Given the description of an element on the screen output the (x, y) to click on. 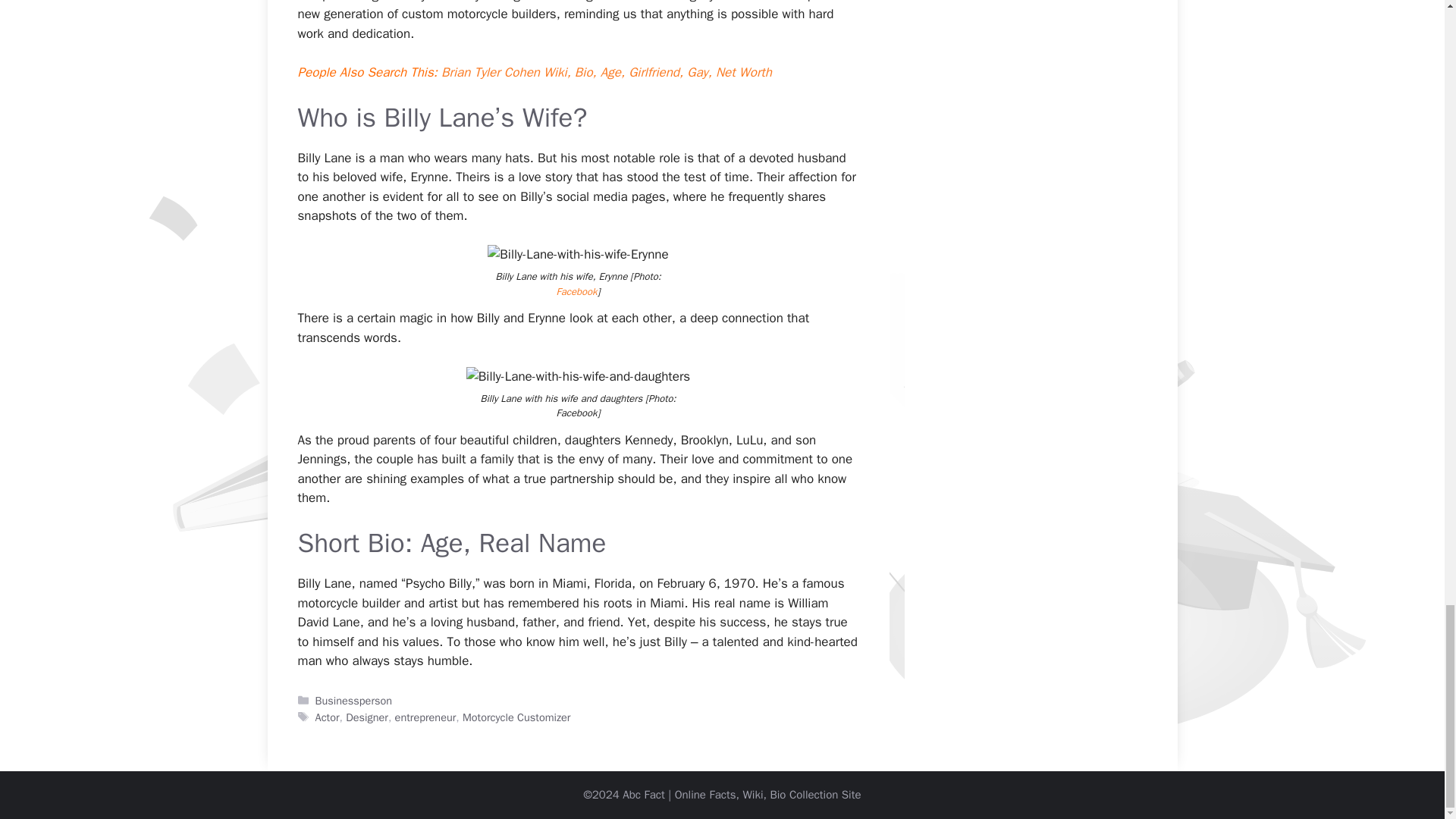
entrepreneur (425, 716)
Designer (367, 716)
Businessperson (354, 700)
Actor (327, 716)
Brian Tyler Cohen Wiki, Bio, Age, Girlfriend, Gay, Net Worth (606, 72)
Facebook (576, 291)
